Given the description of an element on the screen output the (x, y) to click on. 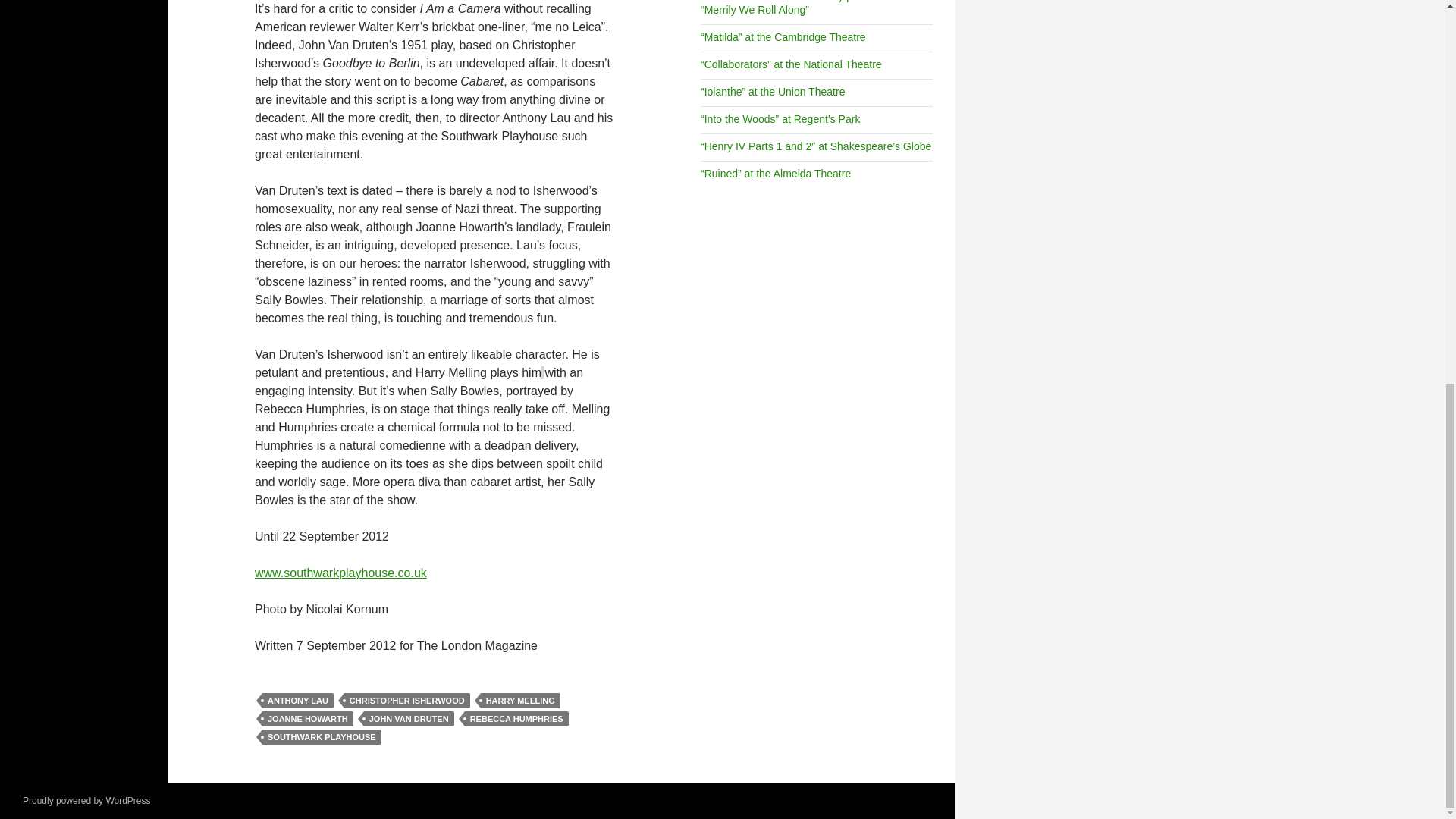
ANTHONY LAU (297, 700)
Proudly powered by WordPress (87, 800)
HARRY MELLING (520, 700)
www.southwarkplayhouse.co.uk (340, 572)
SOUTHWARK PLAYHOUSE (321, 736)
CHRISTOPHER ISHERWOOD (406, 700)
JOANNE HOWARTH (307, 718)
JOHN VAN DRUTEN (409, 718)
REBECCA HUMPHRIES (516, 718)
